Given the description of an element on the screen output the (x, y) to click on. 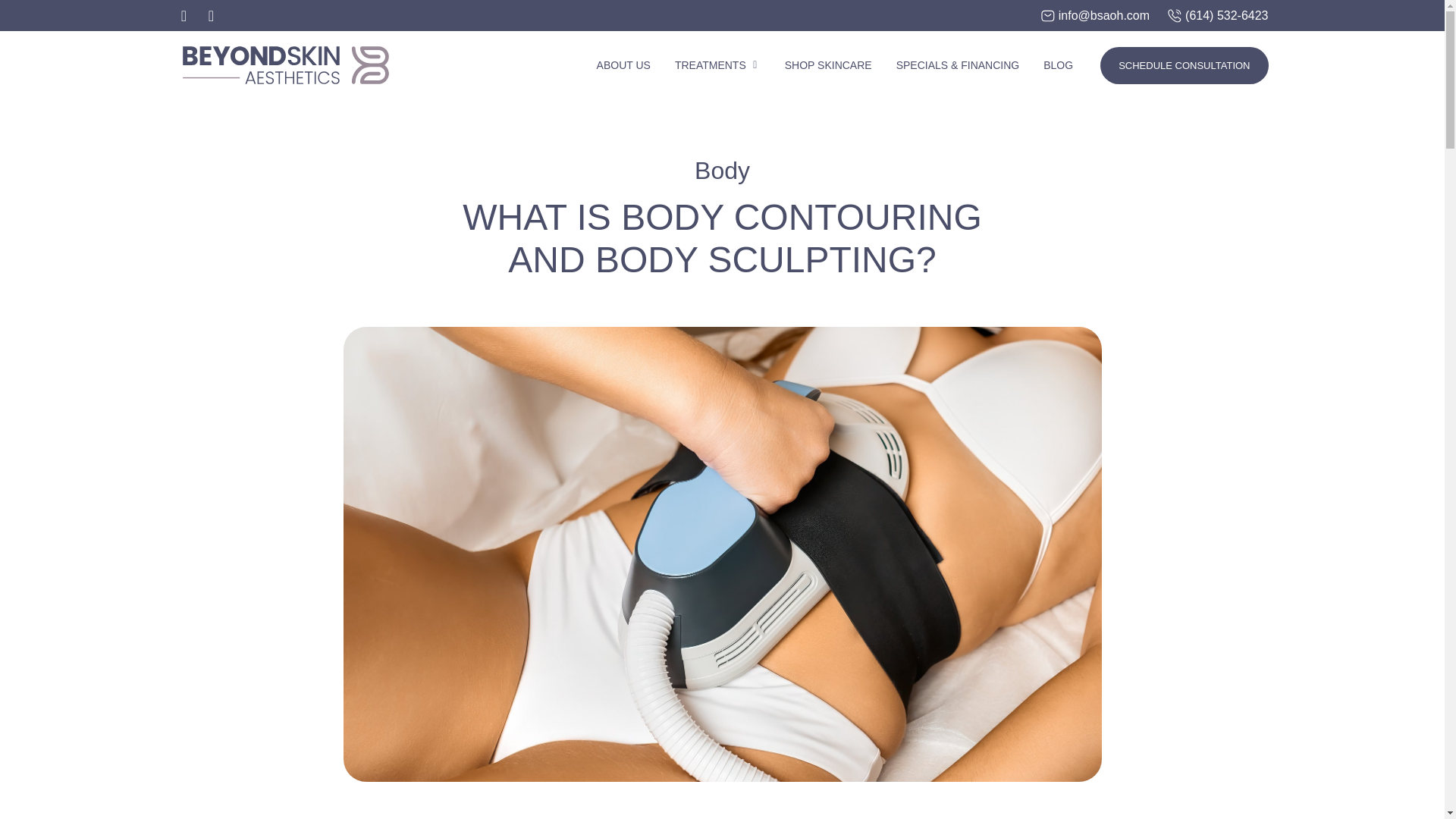
Skip to content (15, 7)
TREATMENTS (710, 65)
SCHEDULE CONSULTATION (1184, 65)
SHOP SKINCARE (828, 65)
Body (721, 170)
BLOG (1058, 65)
ABOUT US (623, 65)
